Given the description of an element on the screen output the (x, y) to click on. 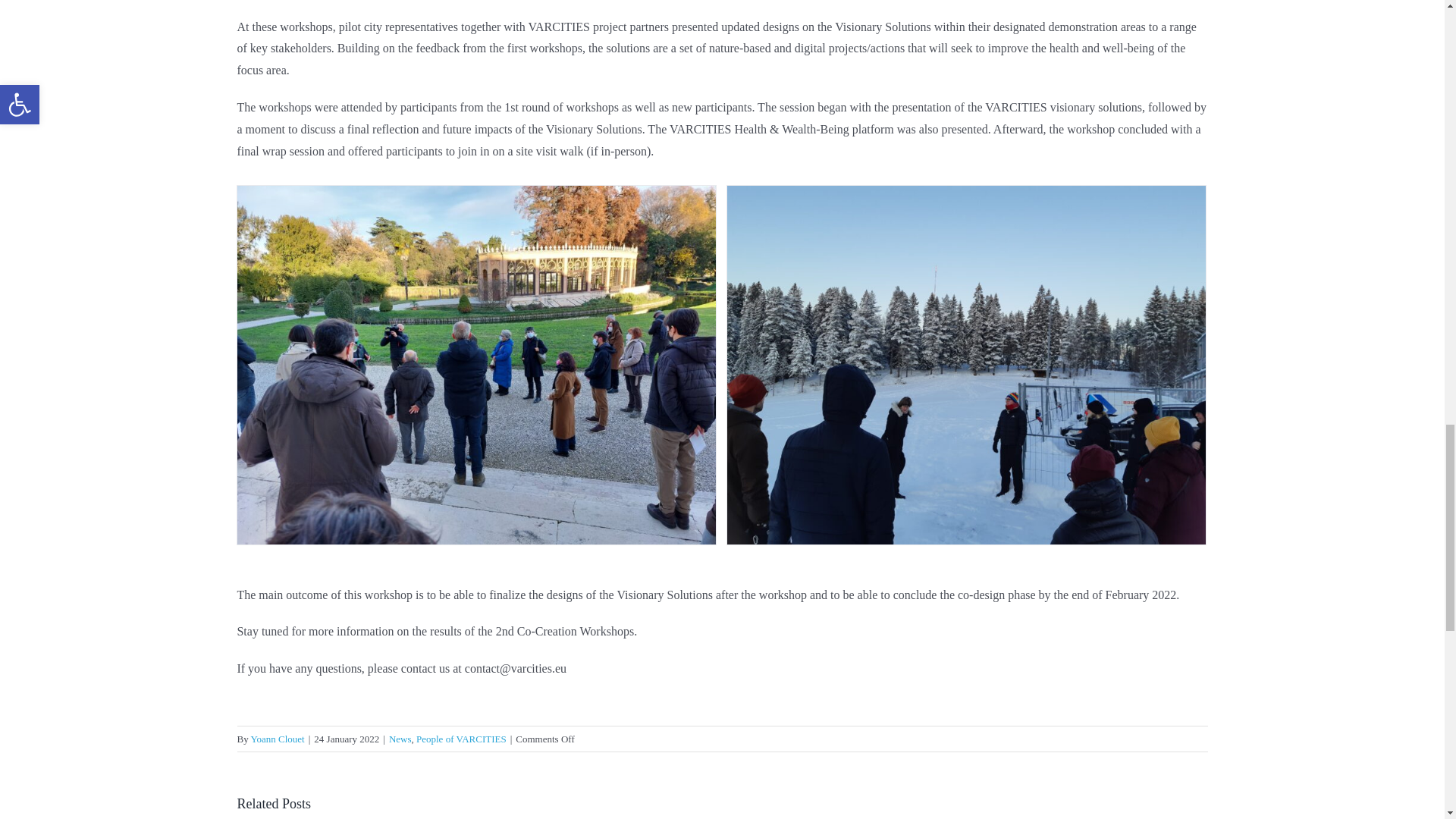
Posts by Yoann Clouet (277, 738)
